Given the description of an element on the screen output the (x, y) to click on. 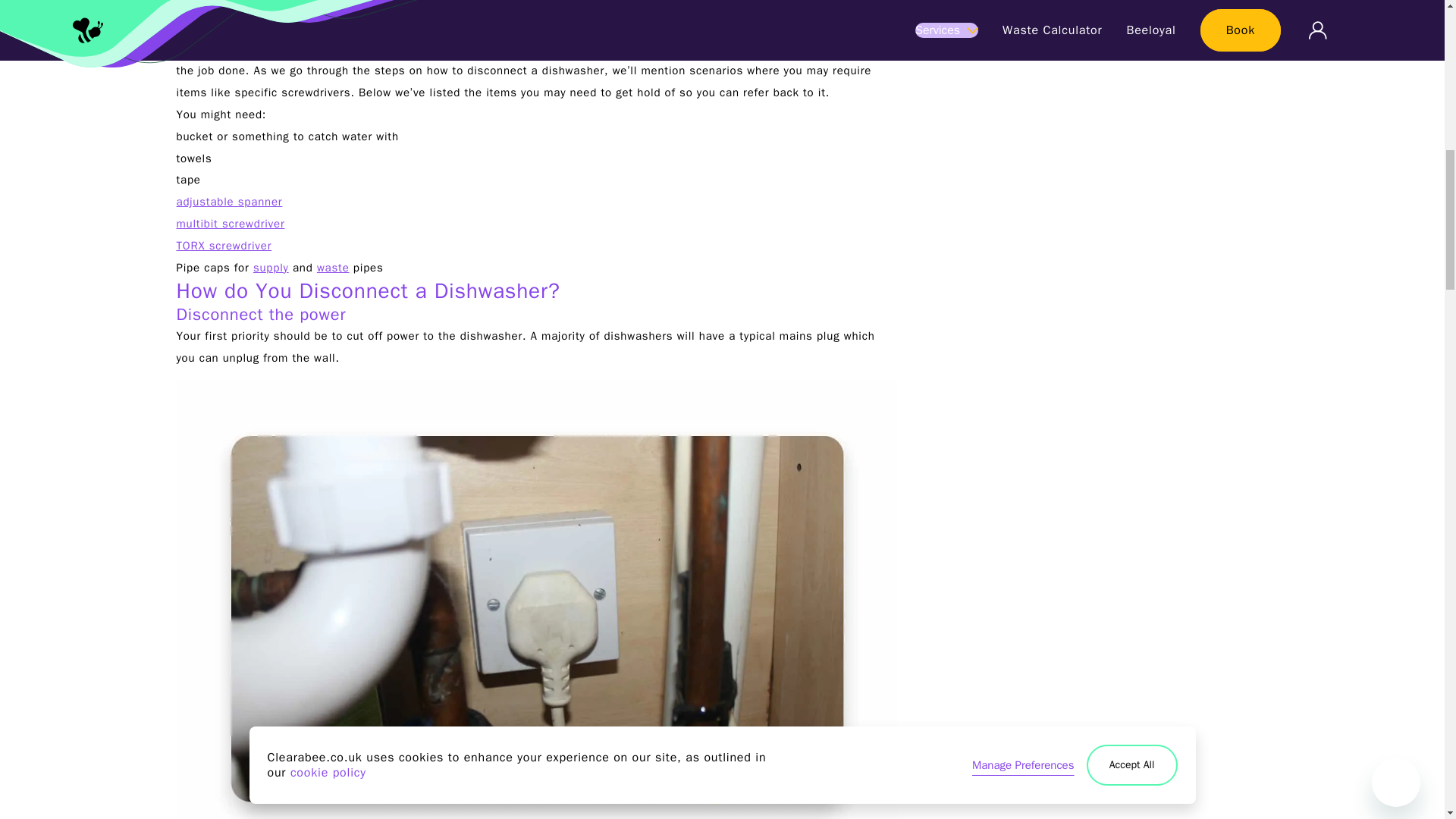
adjustable spanner (229, 201)
multibit screwdriver (229, 223)
waste (333, 267)
supply (270, 267)
TORX screwdriver (223, 245)
